Given the description of an element on the screen output the (x, y) to click on. 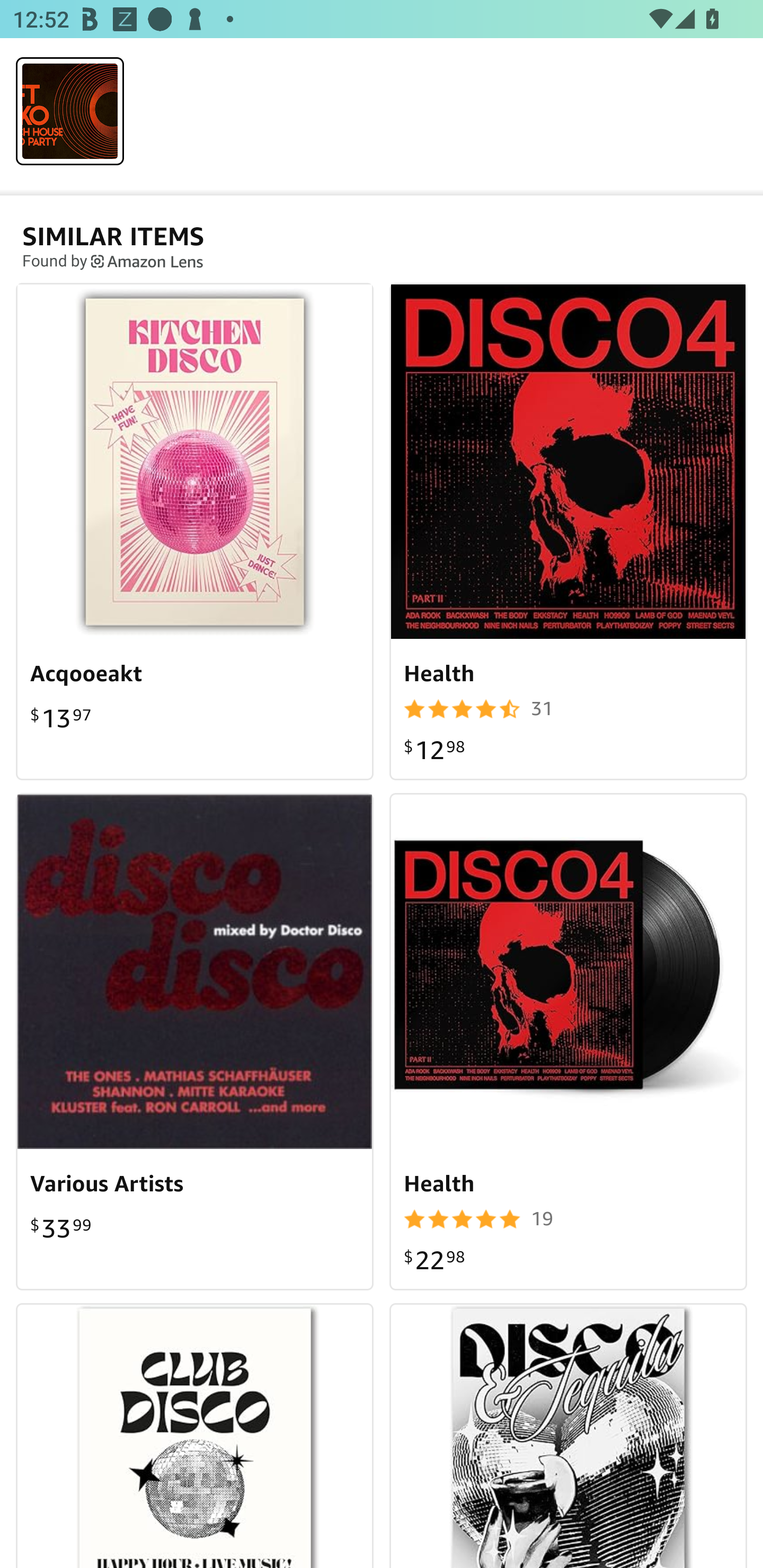
Acqooeakt $ 13 97 (194, 531)
Health 31 $ 12 98 (567, 531)
Various Artists $ 33 99 (194, 1041)
Health 19 $ 22 98 (567, 1041)
